Given the description of an element on the screen output the (x, y) to click on. 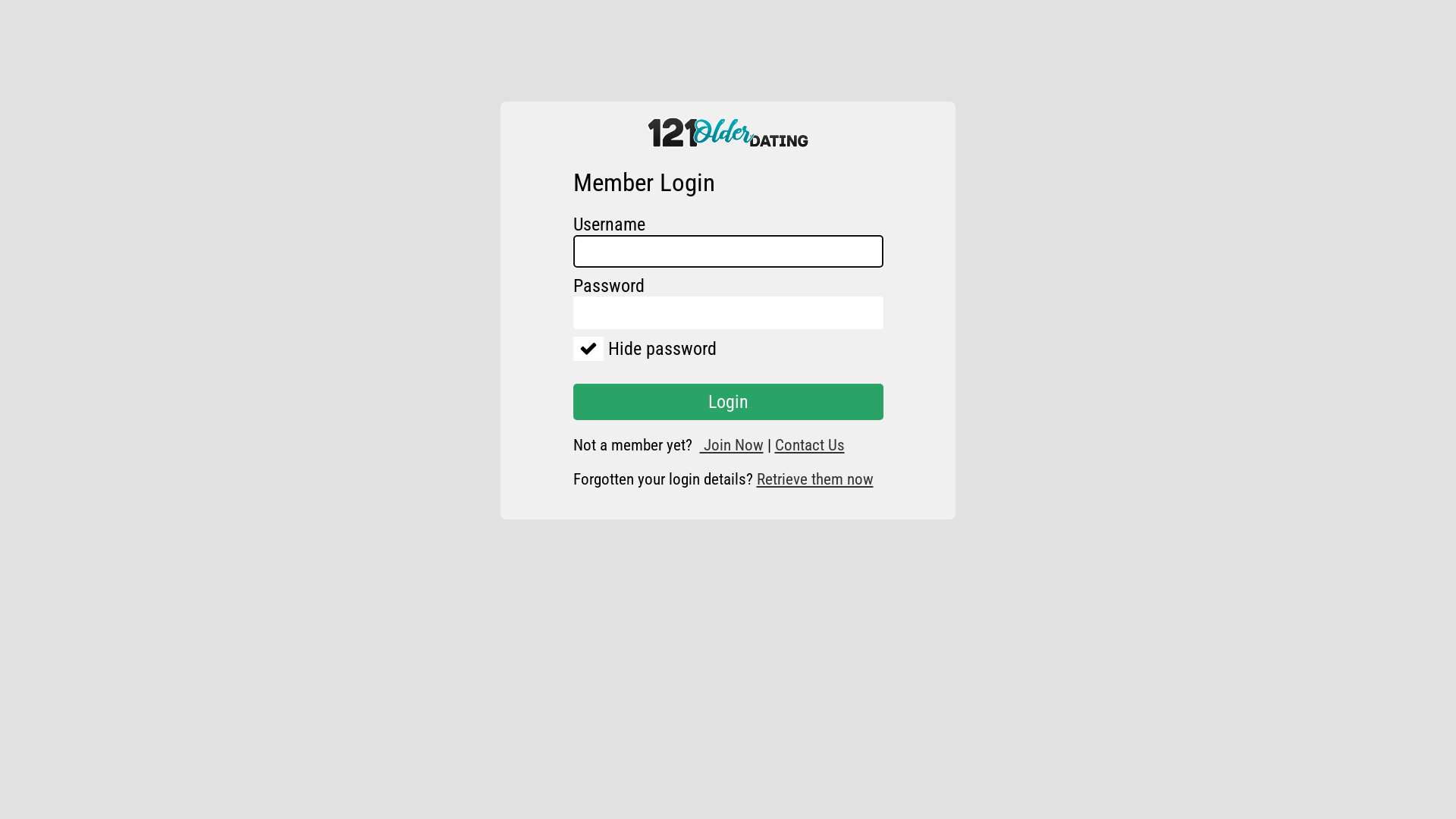
Login Element type: text (728, 401)
Join Now Element type: text (730, 445)
Retrieve them now Element type: text (814, 479)
Contact Us Element type: text (809, 445)
